Given the description of an element on the screen output the (x, y) to click on. 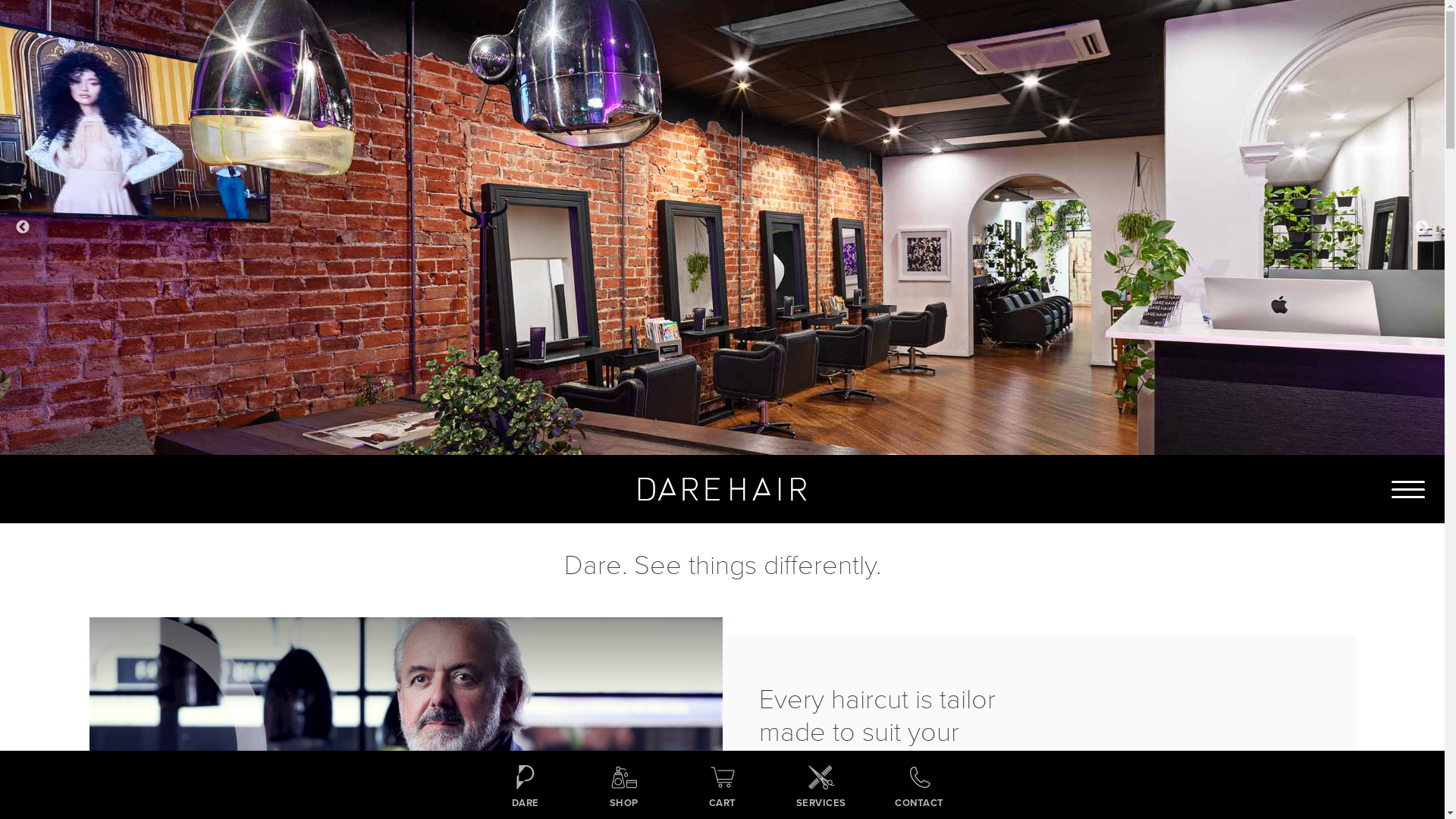
Next Element type: text (1421, 227)
Previous Element type: text (22, 227)
